Given the description of an element on the screen output the (x, y) to click on. 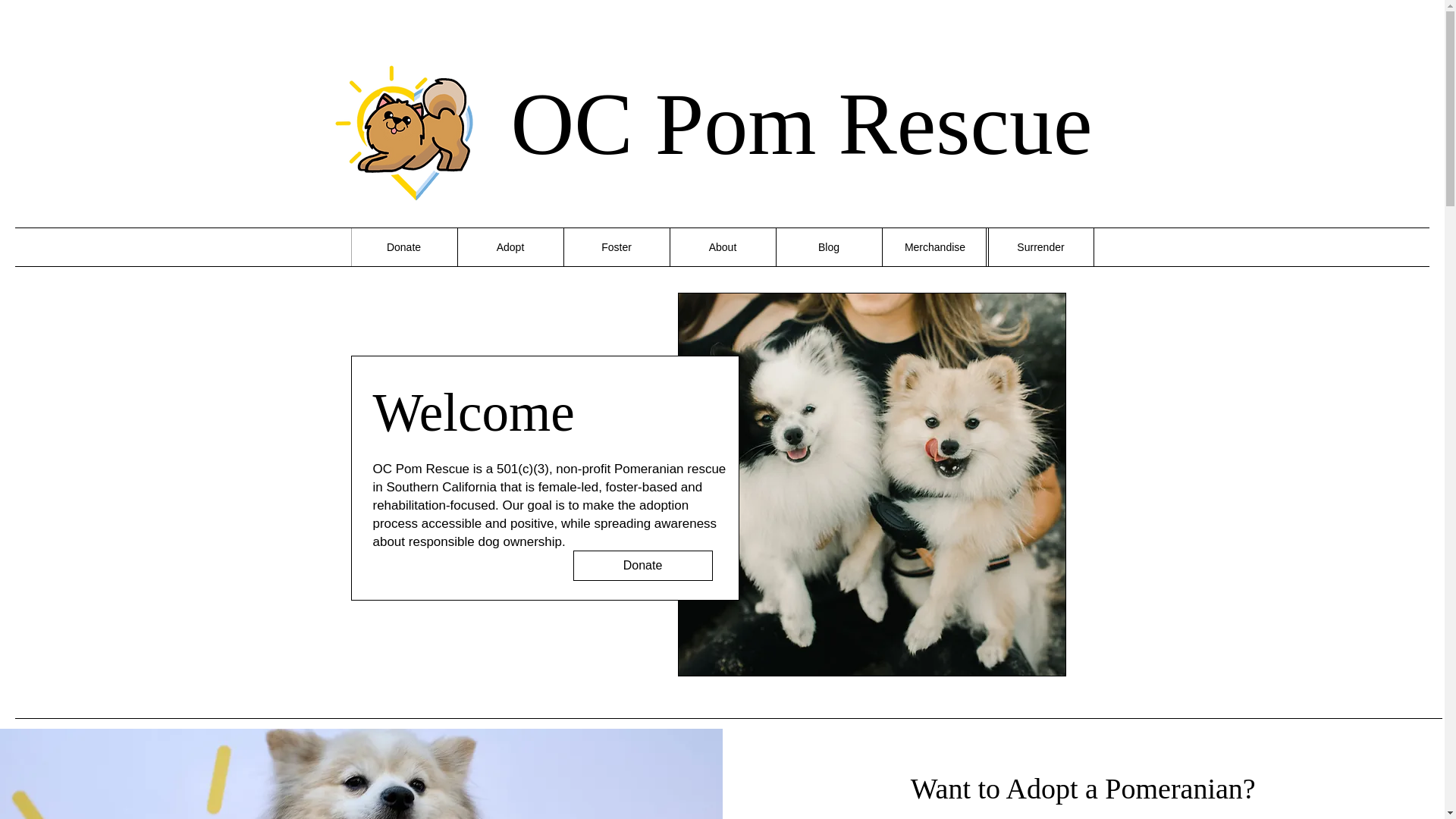
About (721, 247)
Blog (827, 247)
Adopt (509, 247)
Merchandise (933, 247)
Foster (615, 247)
Donate (403, 247)
Surrender (1040, 247)
Donate (643, 565)
OC Pom Rescue (802, 124)
